Given the description of an element on the screen output the (x, y) to click on. 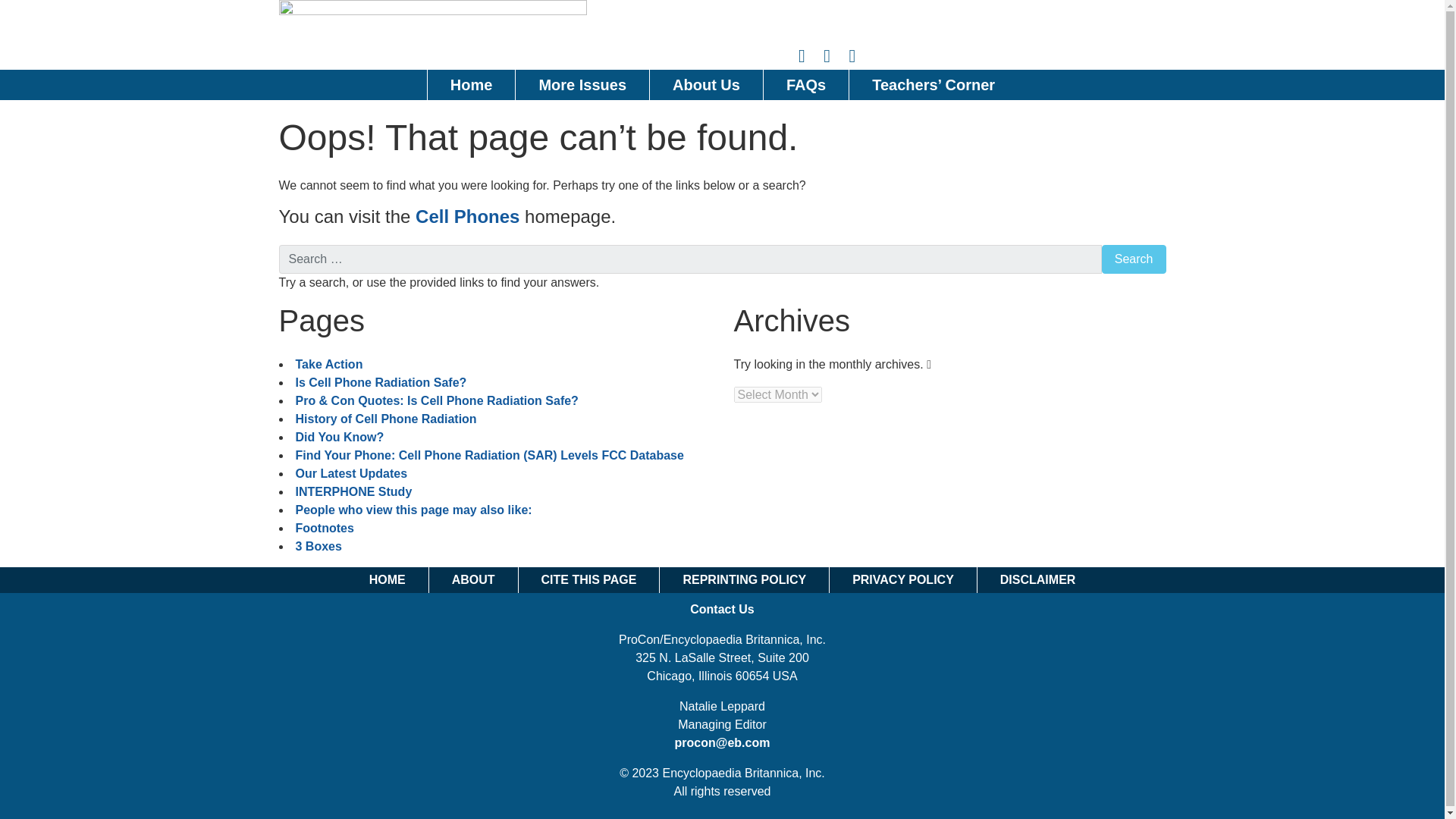
Search (1134, 258)
3 Boxes (318, 545)
More Issues (582, 84)
People who view this page may also like: (413, 509)
Search (1134, 258)
ABOUT (473, 579)
FAQs (805, 84)
Home (471, 84)
FAQs (805, 84)
Cite This Page (588, 579)
